Given the description of an element on the screen output the (x, y) to click on. 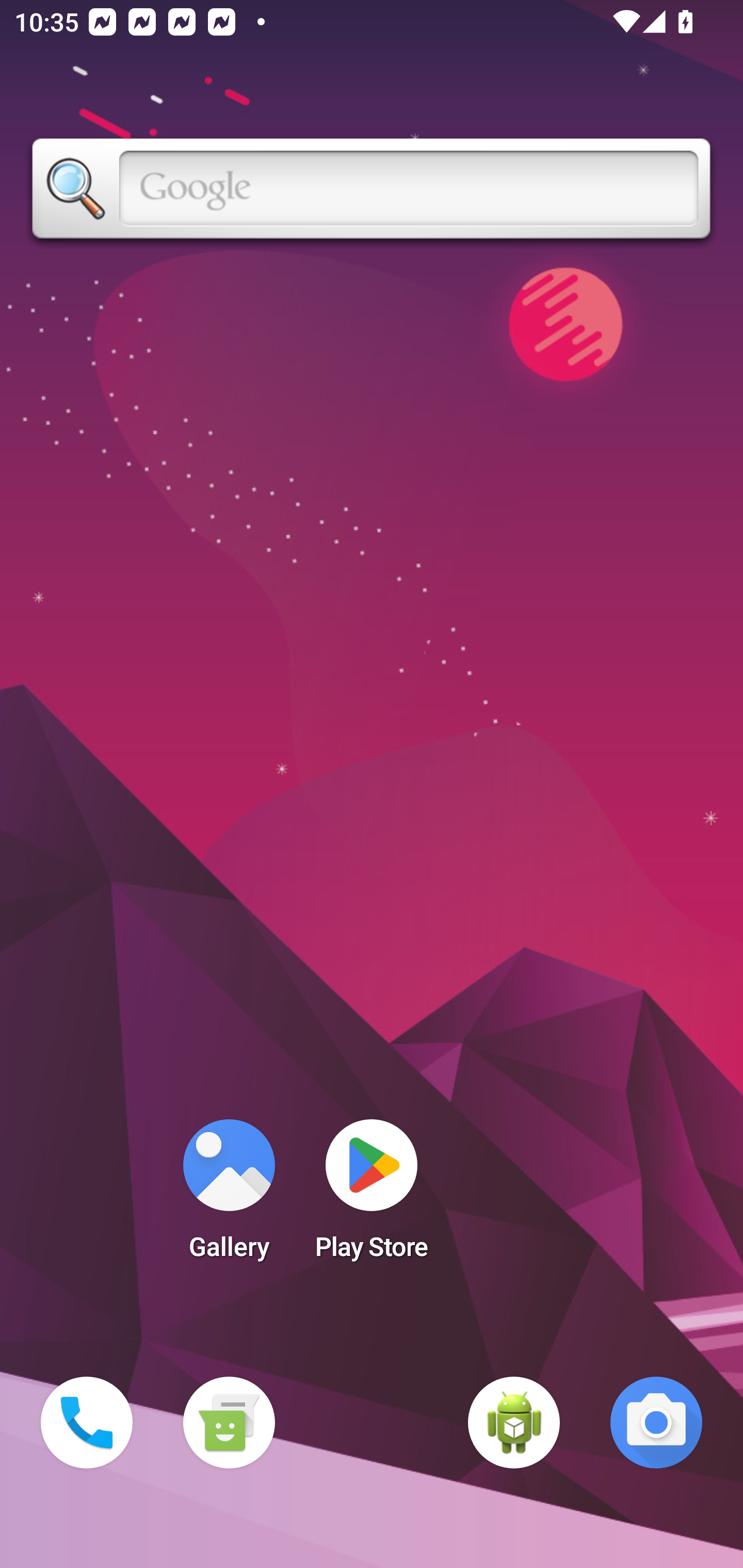
Gallery (228, 1195)
Play Store (371, 1195)
Phone (86, 1422)
Messaging (228, 1422)
WebView Browser Tester (513, 1422)
Camera (656, 1422)
